Given the description of an element on the screen output the (x, y) to click on. 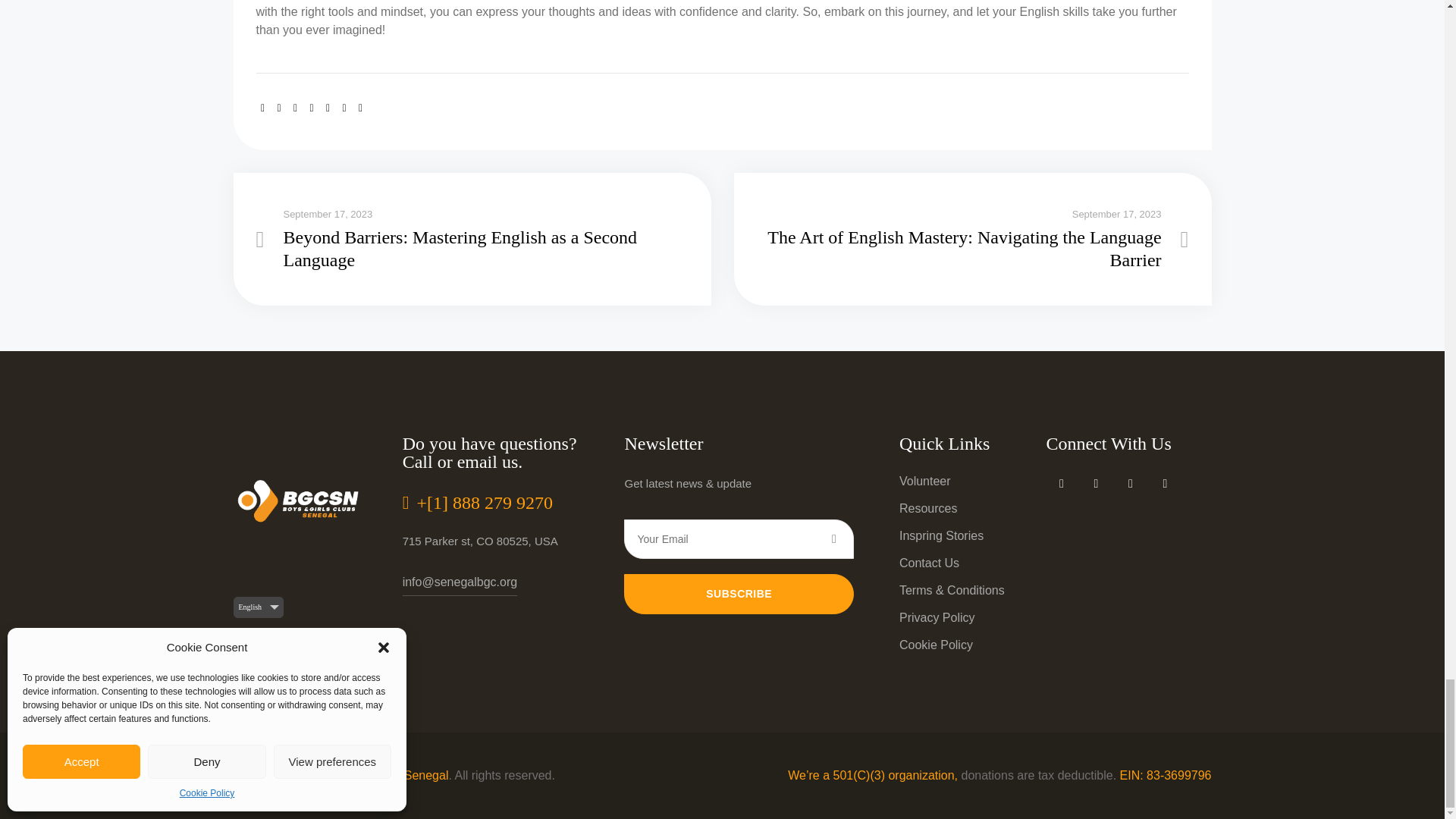
English (257, 607)
